Given the description of an element on the screen output the (x, y) to click on. 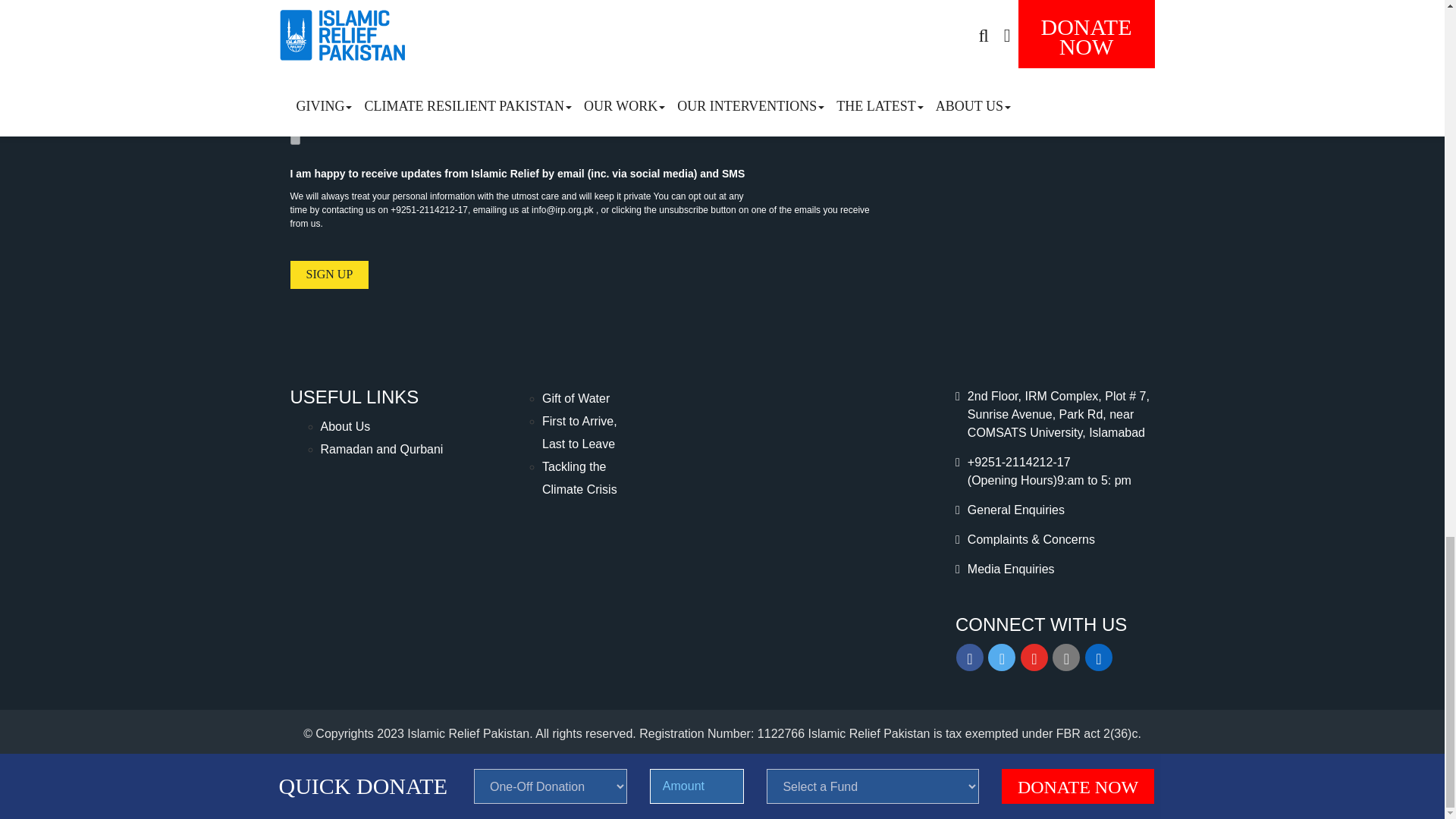
Follow us on linkedin (1098, 656)
on (294, 139)
Follow us on Instagram (1066, 656)
Subscribe to us on YouTube (1034, 656)
Follow us on Facebook (970, 656)
Follow us on twitter (1001, 656)
